Given the description of an element on the screen output the (x, y) to click on. 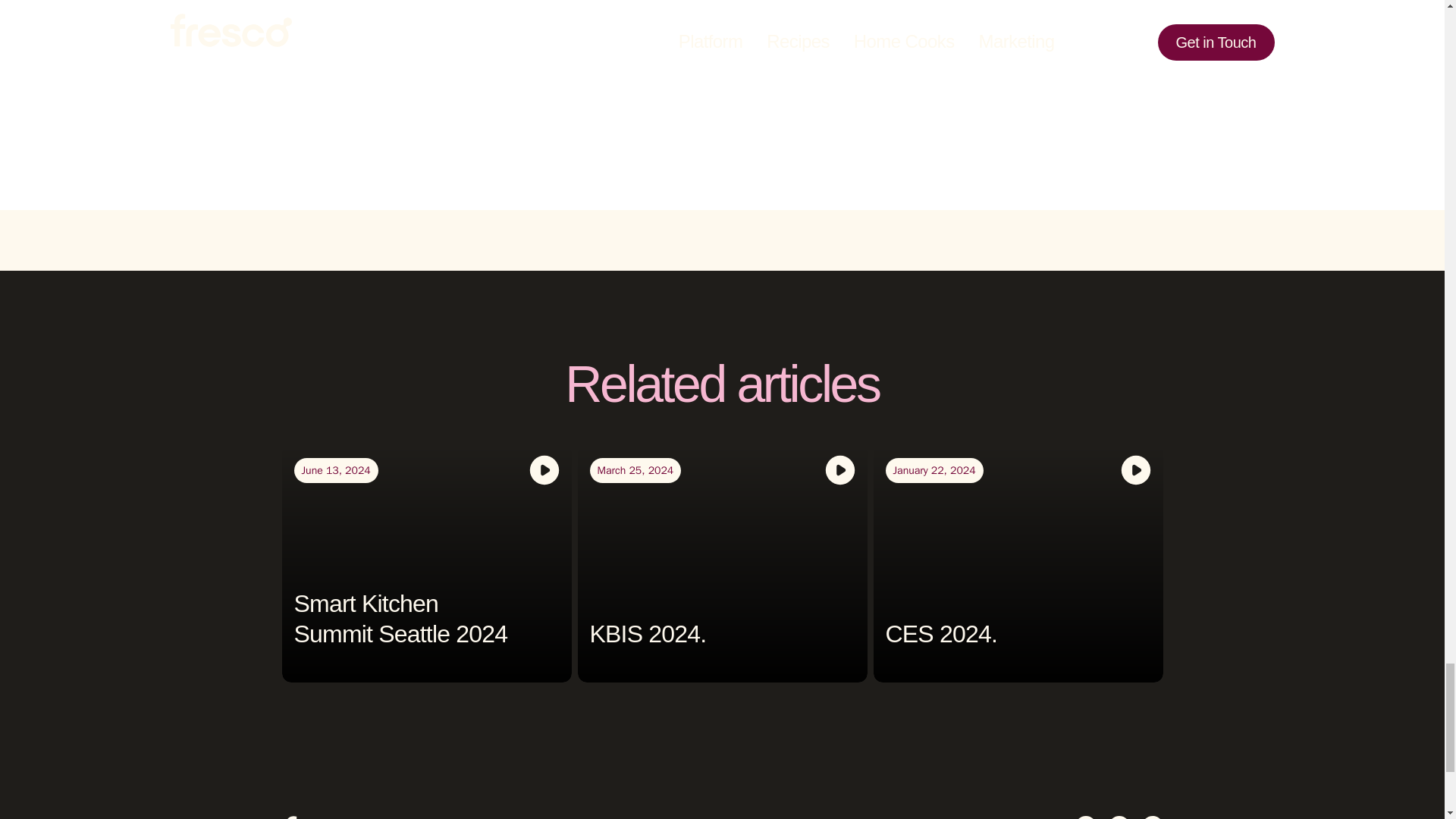
Smart Kitchen Summit Seattle 2024 (401, 618)
KBIS 2024. (647, 633)
CES 2024. (941, 633)
